Given the description of an element on the screen output the (x, y) to click on. 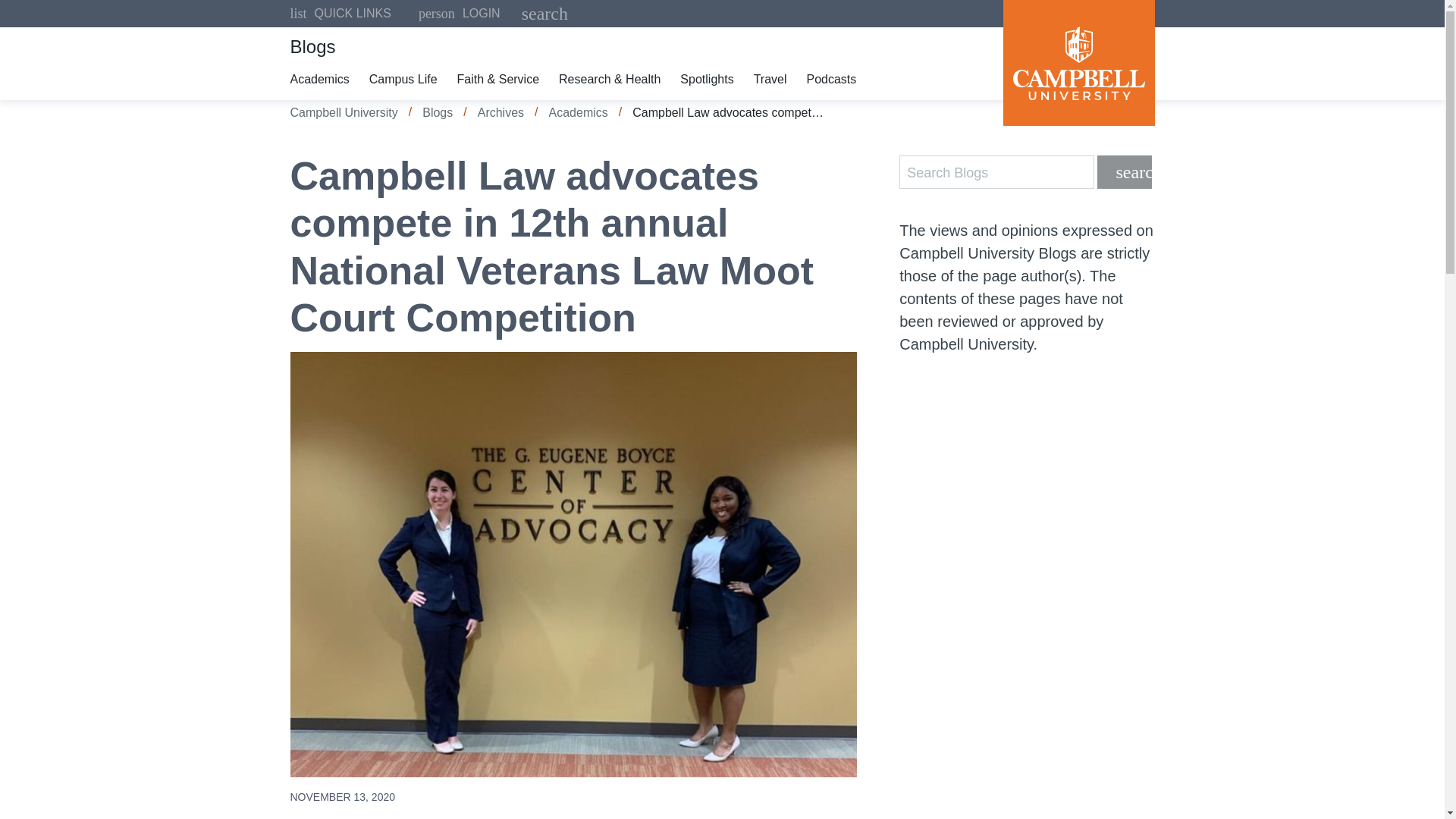
Campbell University (343, 112)
Podcasts (833, 78)
Go to the Academics category archives. (458, 13)
Campus Life (578, 112)
Academics (406, 78)
SEARCH (578, 112)
Academics (530, 13)
Go to Blogs. (322, 78)
Go to Campbell University. (437, 112)
Archives (343, 112)
SEARCH (500, 112)
Podcasts (1123, 172)
Travel (833, 78)
Blogs (773, 78)
